Given the description of an element on the screen output the (x, y) to click on. 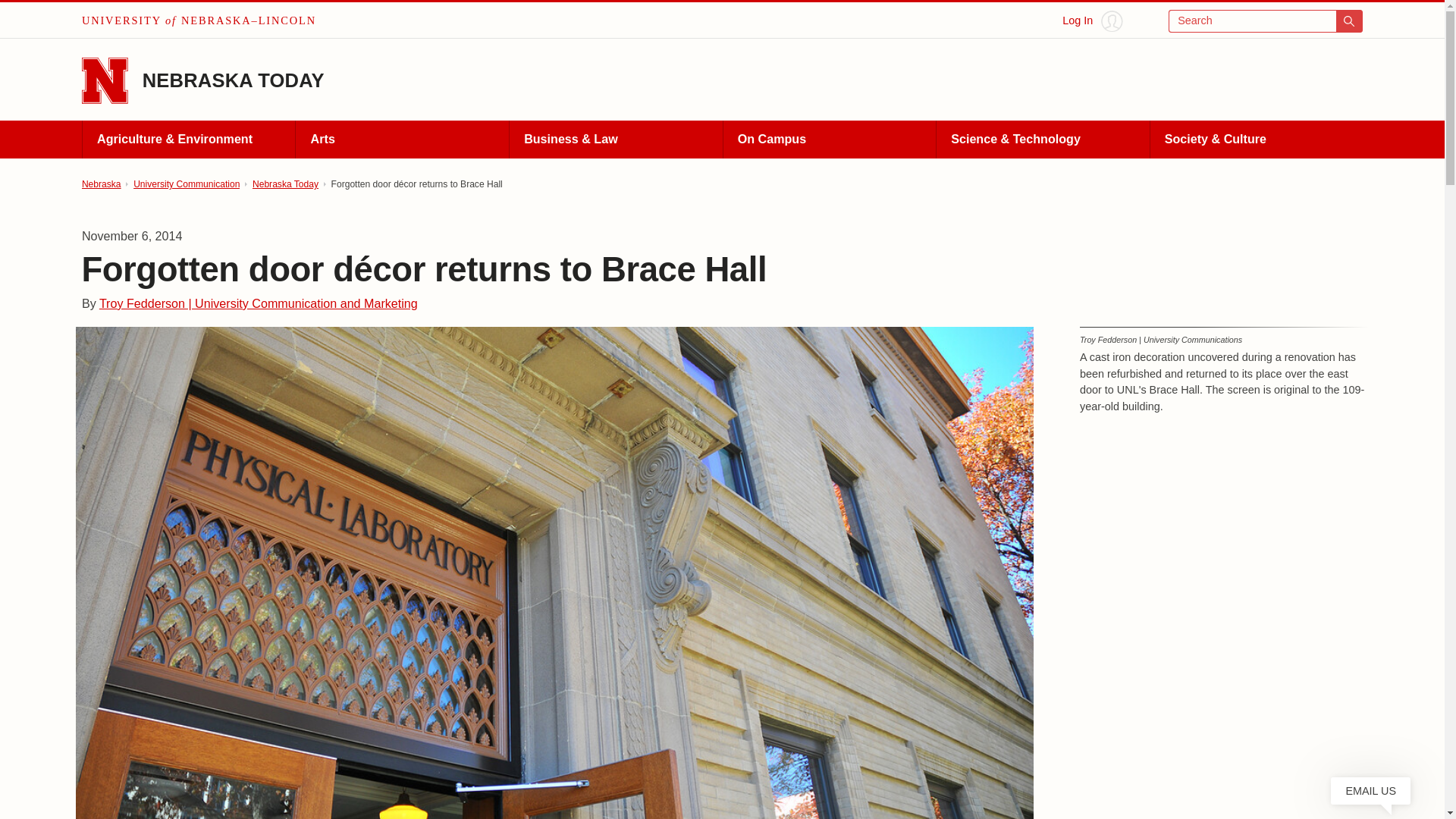
NEBRASKA TODAY (233, 79)
Arts (401, 139)
Skip to main content (19, 16)
Search (1265, 21)
University Communication (186, 183)
Nebraska Today (284, 183)
Log In (1092, 21)
Nebraska (100, 183)
On Campus (829, 139)
